Given the description of an element on the screen output the (x, y) to click on. 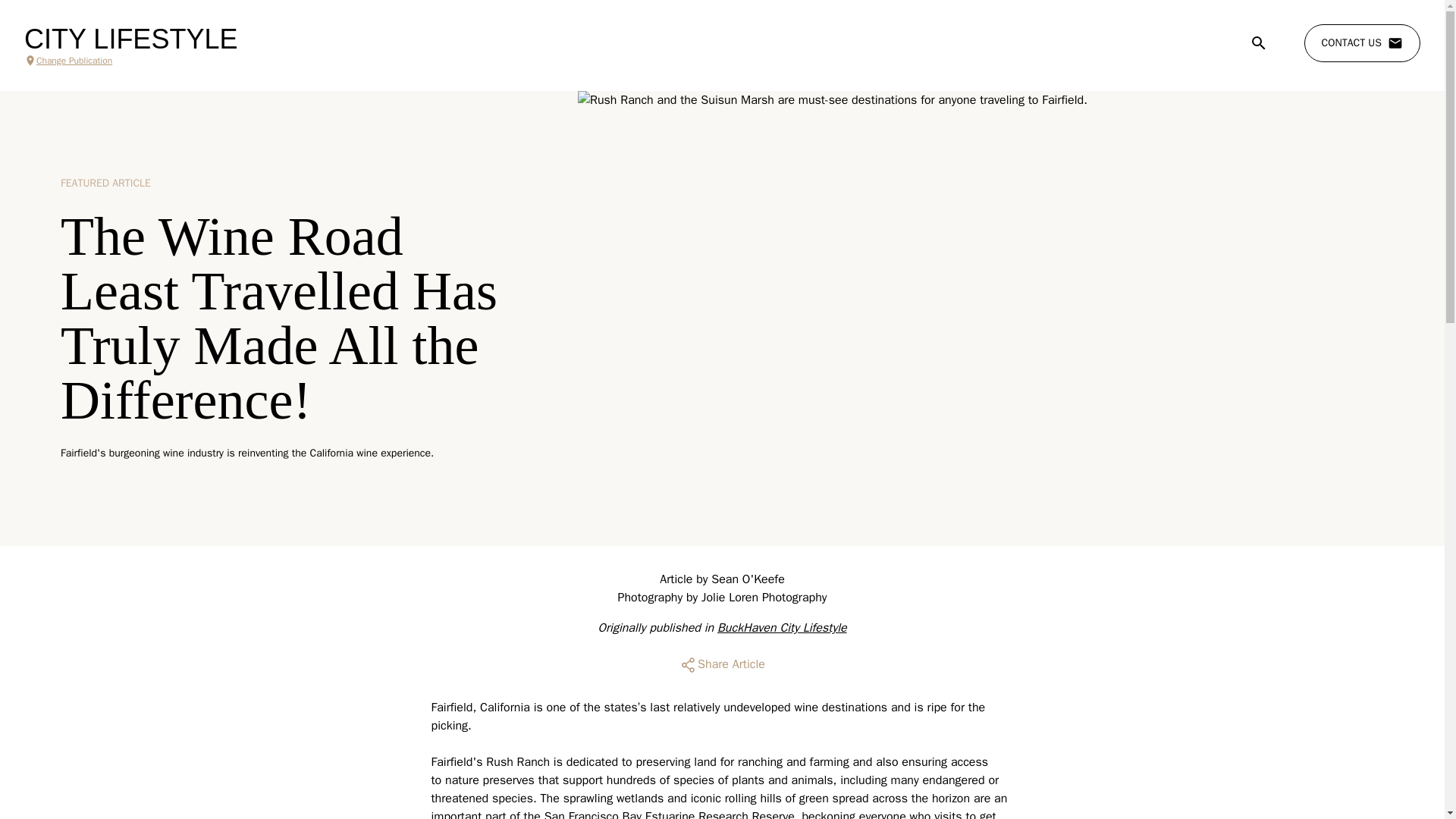
CITY LIFESTYLE (130, 39)
Share Article (722, 664)
CONTACT US (1362, 43)
Change Publication (130, 60)
BuckHaven City Lifestyle (782, 627)
